Given the description of an element on the screen output the (x, y) to click on. 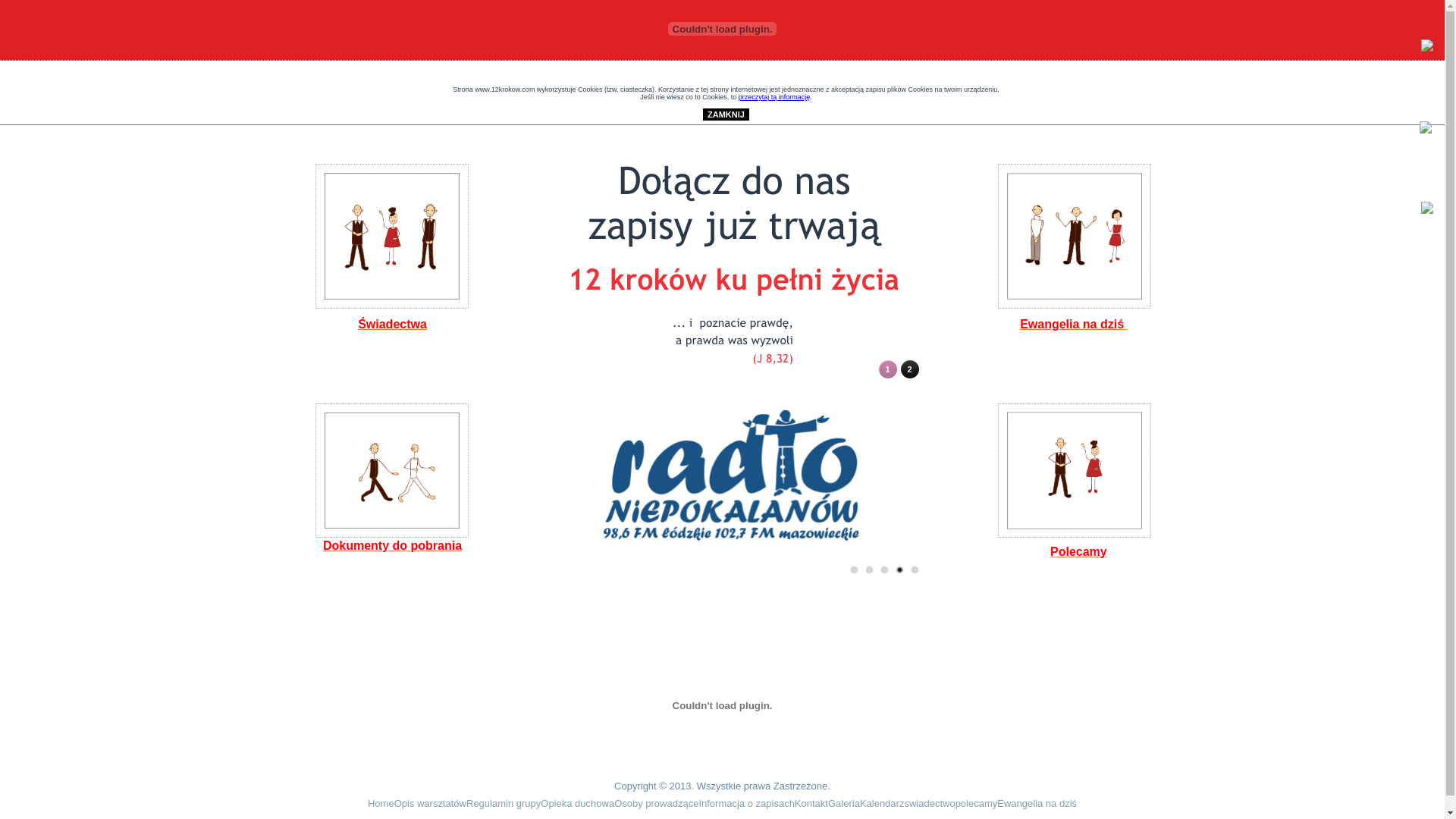
2 Element type: text (909, 369)
Opieka duchowa Element type: text (577, 803)
Home Element type: text (380, 803)
swiadectwo Element type: text (928, 803)
Informacja o zapisach Element type: text (745, 803)
ZAMKNIJ Element type: text (725, 114)
Kontakt Element type: text (811, 803)
Galeria Element type: text (843, 803)
Polecamy Element type: text (1078, 551)
Regulamin grupy Element type: text (503, 803)
1 Element type: text (887, 369)
Dokumenty do pobrania Element type: text (392, 546)
Kalendarz Element type: text (881, 803)
polecamy Element type: text (976, 803)
